Given the description of an element on the screen output the (x, y) to click on. 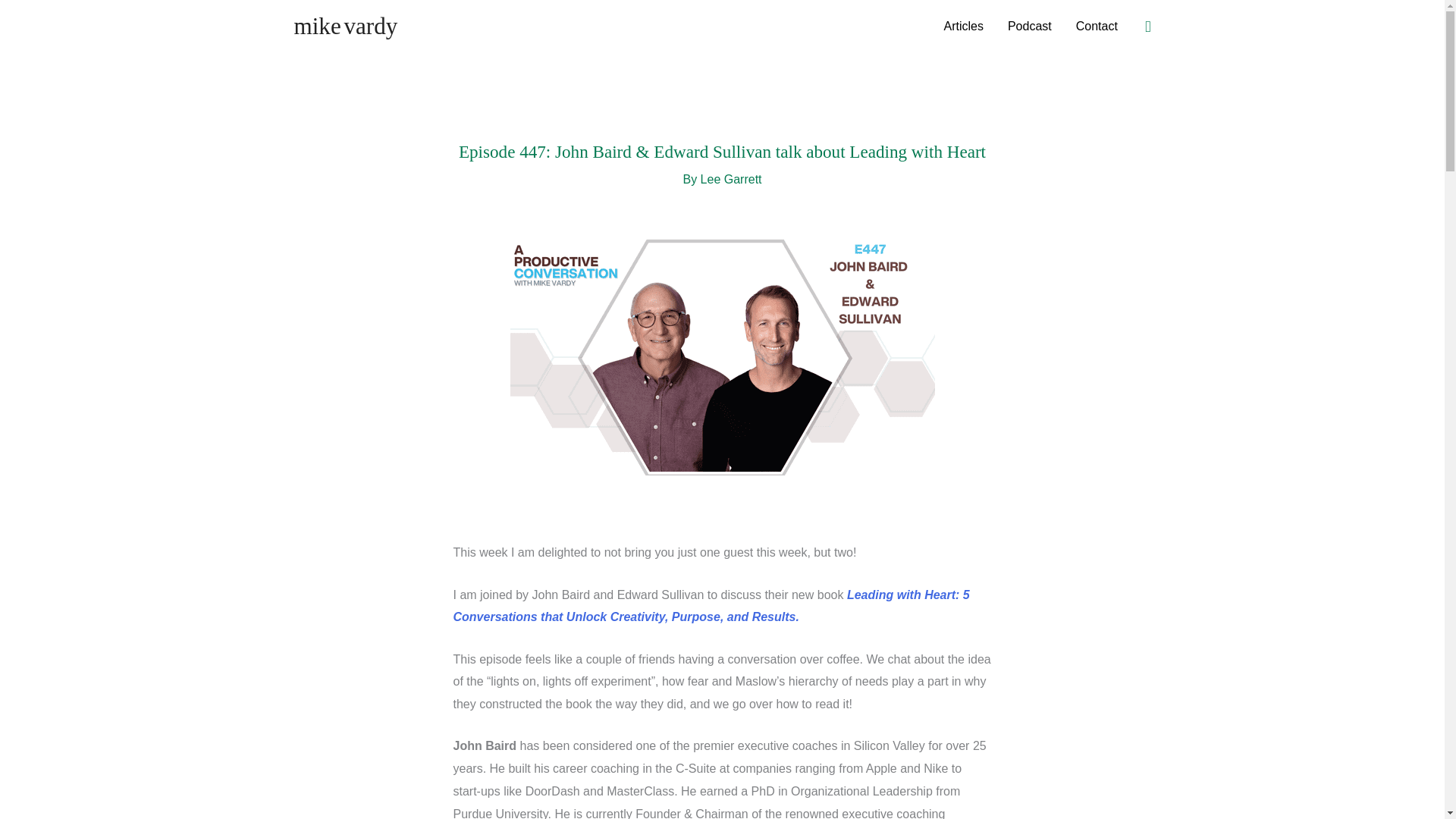
Podcast (1029, 26)
Lee Garrett (730, 178)
mike vardy (345, 26)
Articles (962, 26)
View all posts by Lee Garrett (730, 178)
Contact (1096, 26)
